Given the description of an element on the screen output the (x, y) to click on. 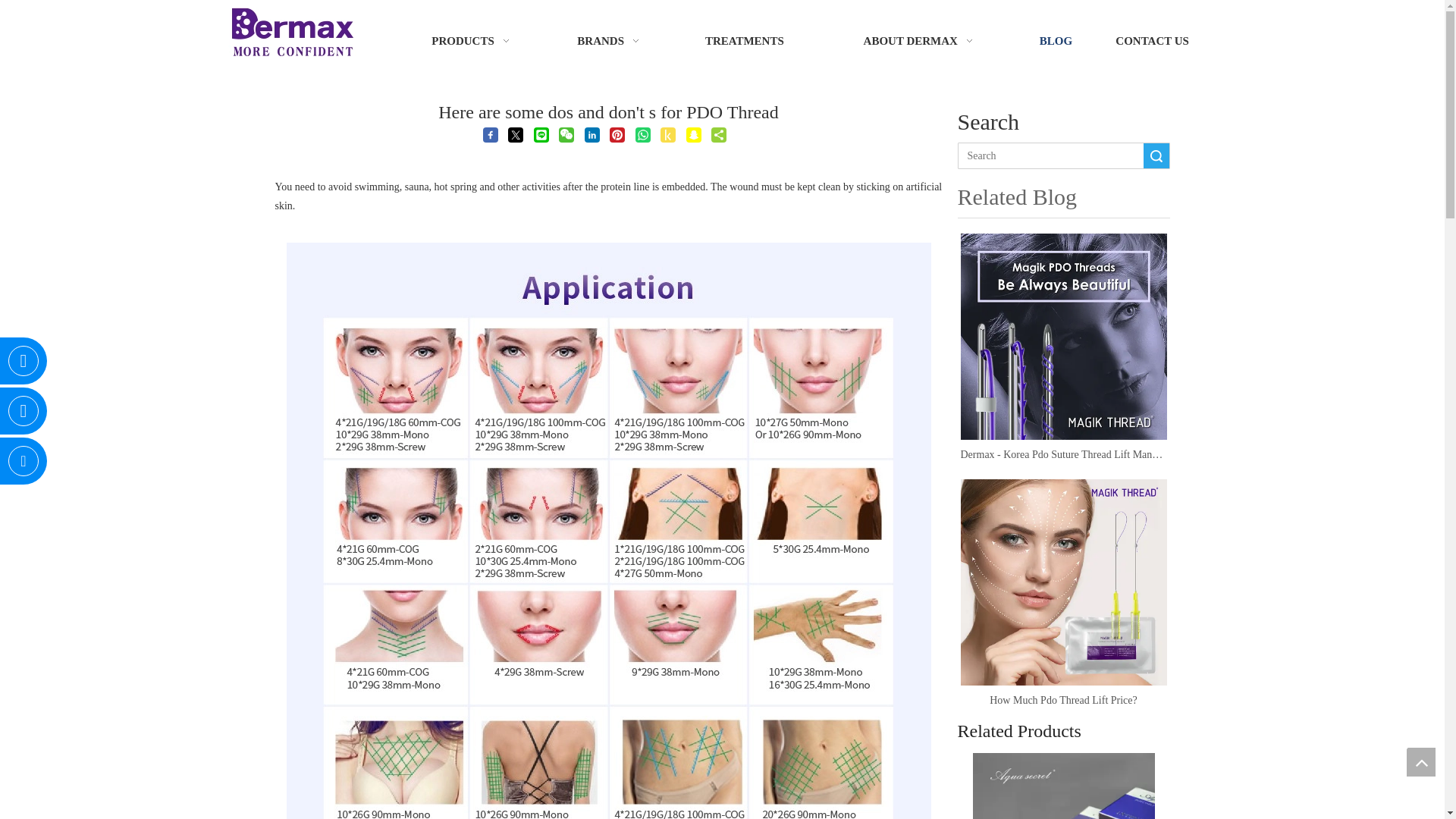
CONTACT US (1153, 35)
Dermax - Korea Pdo Suture Thread Lift Manufacturer (1062, 336)
200x65logo (292, 31)
BRANDS   (611, 35)
BLOG (1056, 40)
TREATMENTS (743, 35)
How Much Pdo Thread Lift Price? (1062, 582)
Search (1155, 155)
ABOUT DERMAX   (920, 35)
PRODUCTS   (473, 35)
Dermax - Korea Pdo Suture Thread Lift Manufacturer (1062, 454)
How Much Pdo Thread Lift Price? (1062, 700)
